Given the description of an element on the screen output the (x, y) to click on. 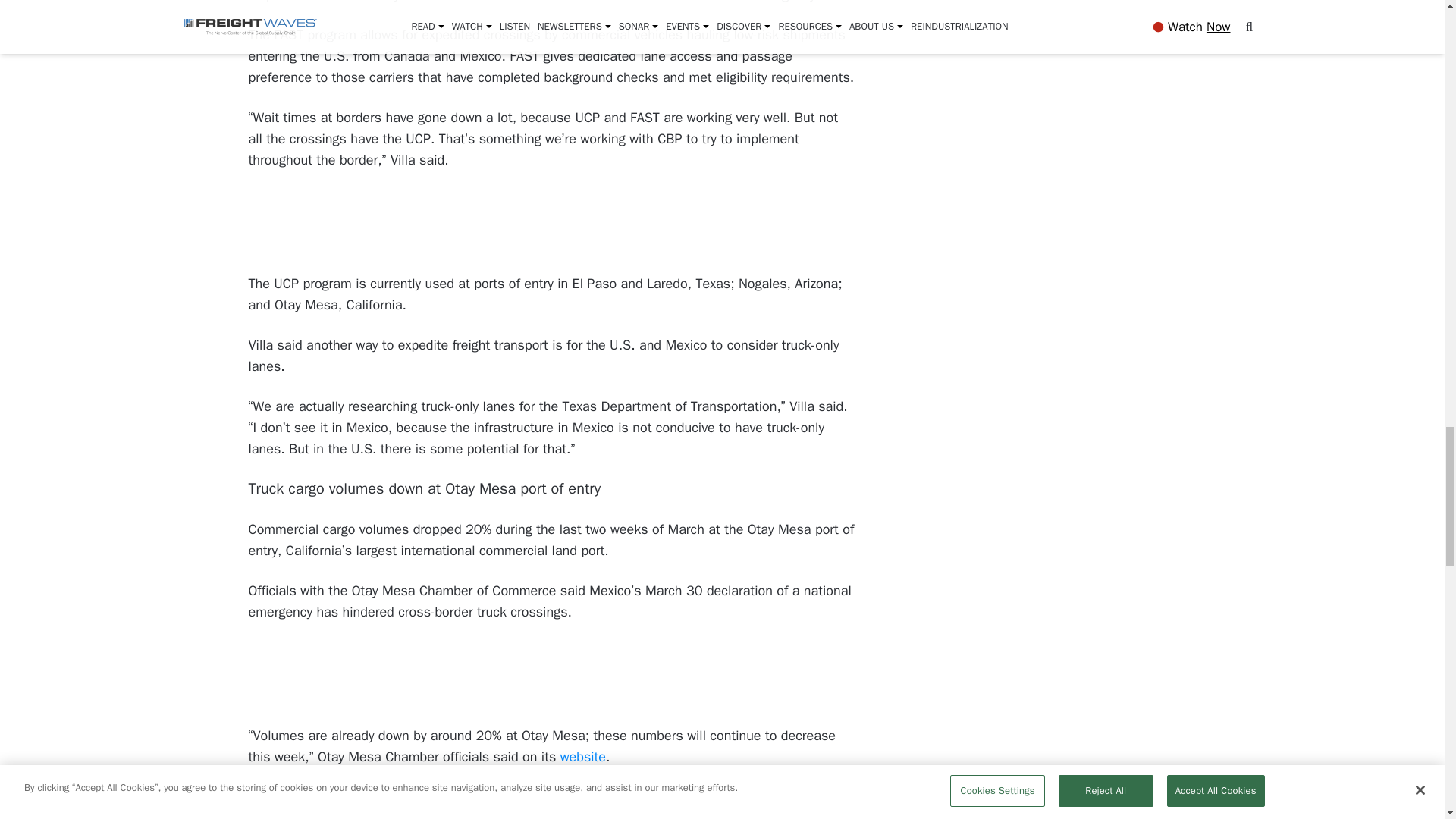
3rd party ad content (552, 675)
3rd party ad content (552, 223)
